Given the description of an element on the screen output the (x, y) to click on. 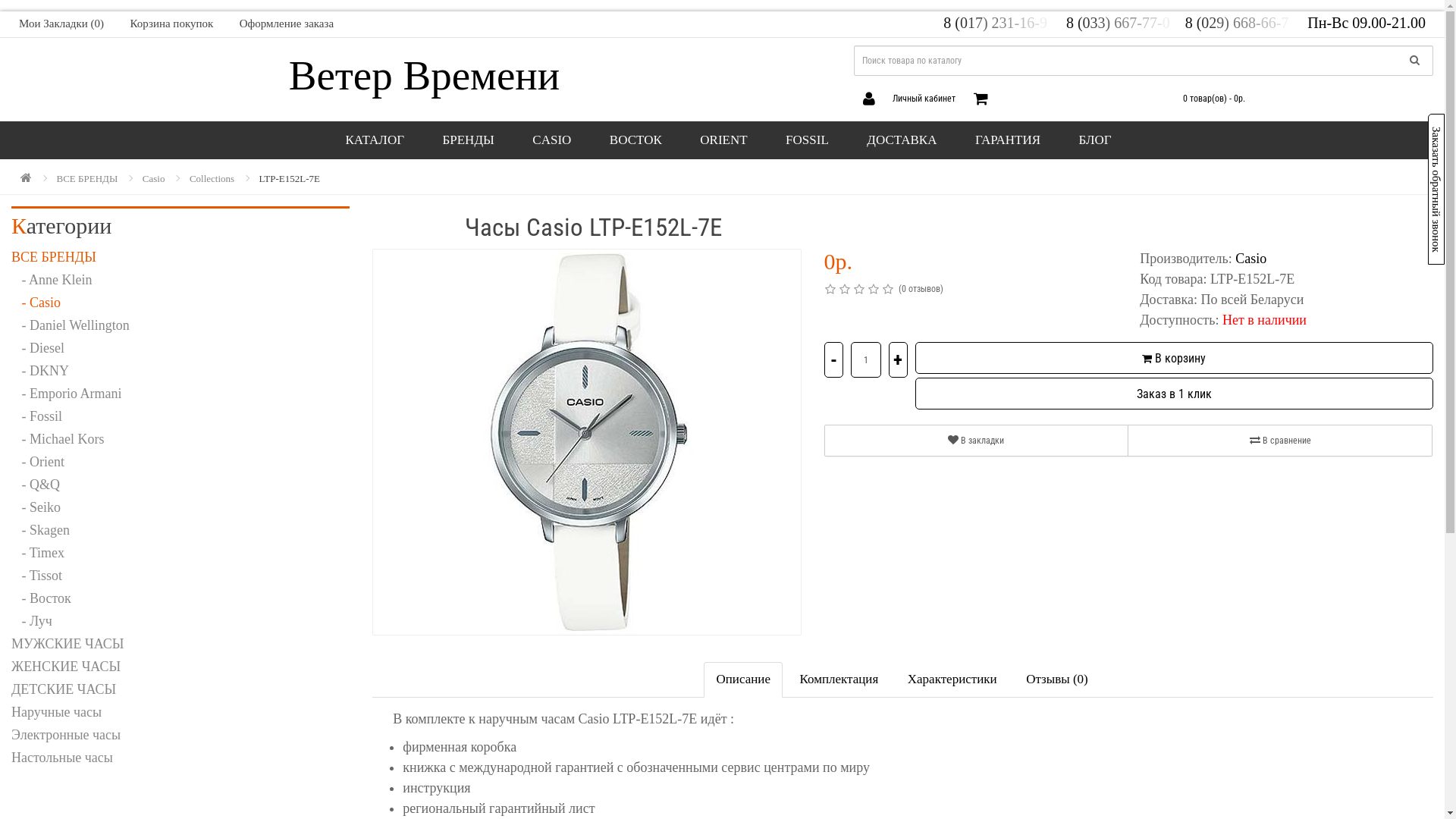
   - Daniel Wellington Element type: text (180, 324)
8 (017) 231-16-9  Element type: text (1000, 22)
ORIENT Element type: text (723, 140)
   - Anne Klein Element type: text (180, 279)
   - DKNY Element type: text (180, 370)
   - Diesel Element type: text (180, 347)
LTP-E152L-7E Element type: text (289, 178)
8 (029) 668-66-7   Element type: text (1244, 22)
   - Q&Q Element type: text (180, 484)
   - Seiko Element type: text (180, 506)
+ Element type: text (897, 359)
   - Tissot Element type: text (180, 575)
CASIO Element type: text (551, 140)
8 (033) 667-77-0  Element type: text (1123, 22)
   - Emporio Armani Element type: text (180, 393)
   - Timex Element type: text (180, 552)
   - Casio Element type: text (180, 302)
   - Michael Kors Element type: text (180, 438)
   - Fossil Element type: text (180, 415)
Collections Element type: text (211, 178)
Casio Element type: text (1250, 258)
FOSSIL Element type: text (807, 140)
   - Skagen Element type: text (180, 529)
Casio Element type: text (153, 178)
   - Orient Element type: text (180, 461)
- Element type: text (833, 359)
